Given the description of an element on the screen output the (x, y) to click on. 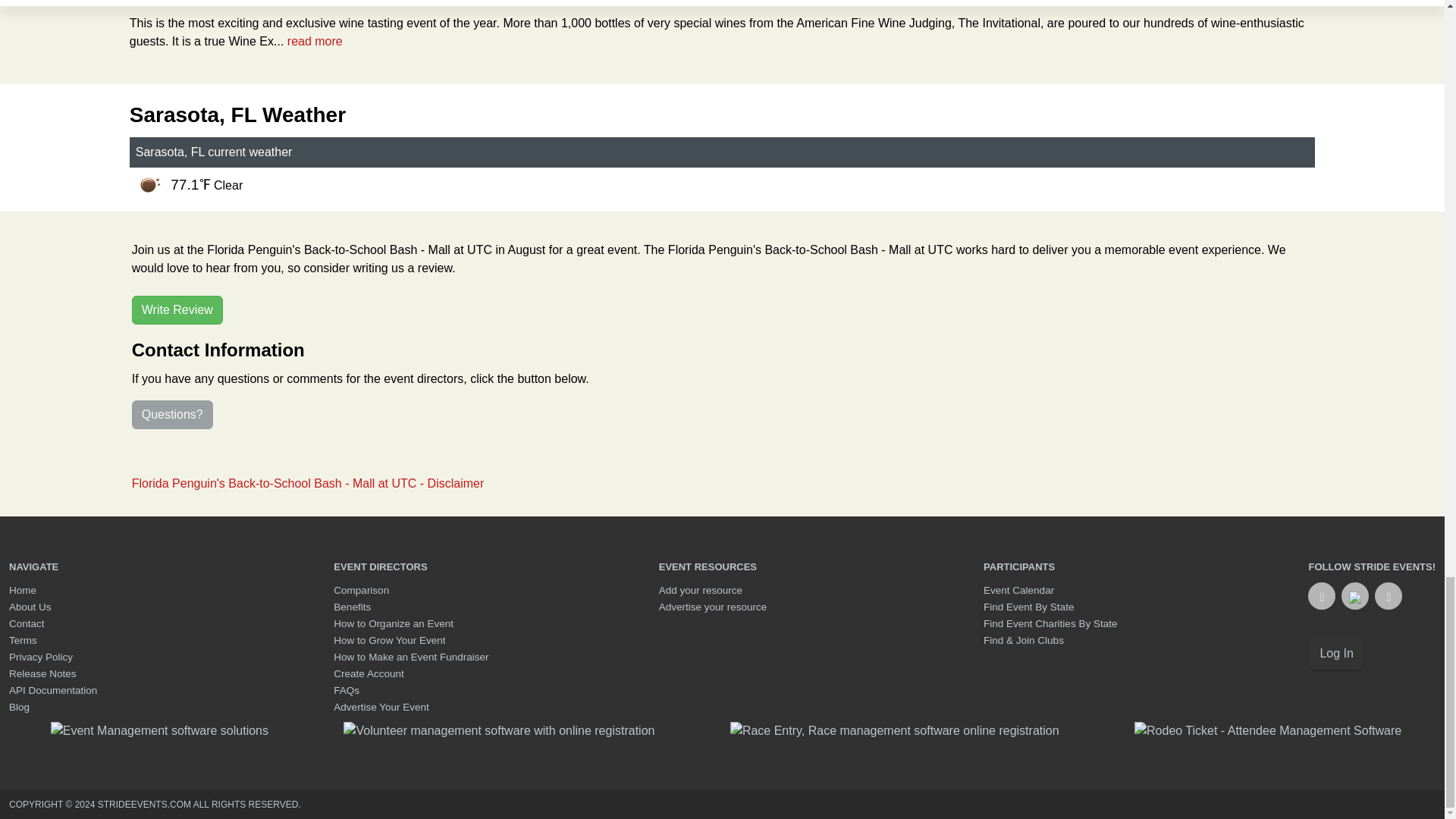
API Documentation (52, 690)
Questions? (172, 414)
Home (22, 590)
Terms (22, 640)
Release Notes (42, 673)
read more (314, 41)
Privacy Policy (40, 656)
Blog (18, 706)
AFWC's One Thousand Bottles (263, 3)
About Us (29, 606)
Write Review (177, 309)
Contact (26, 623)
